Given the description of an element on the screen output the (x, y) to click on. 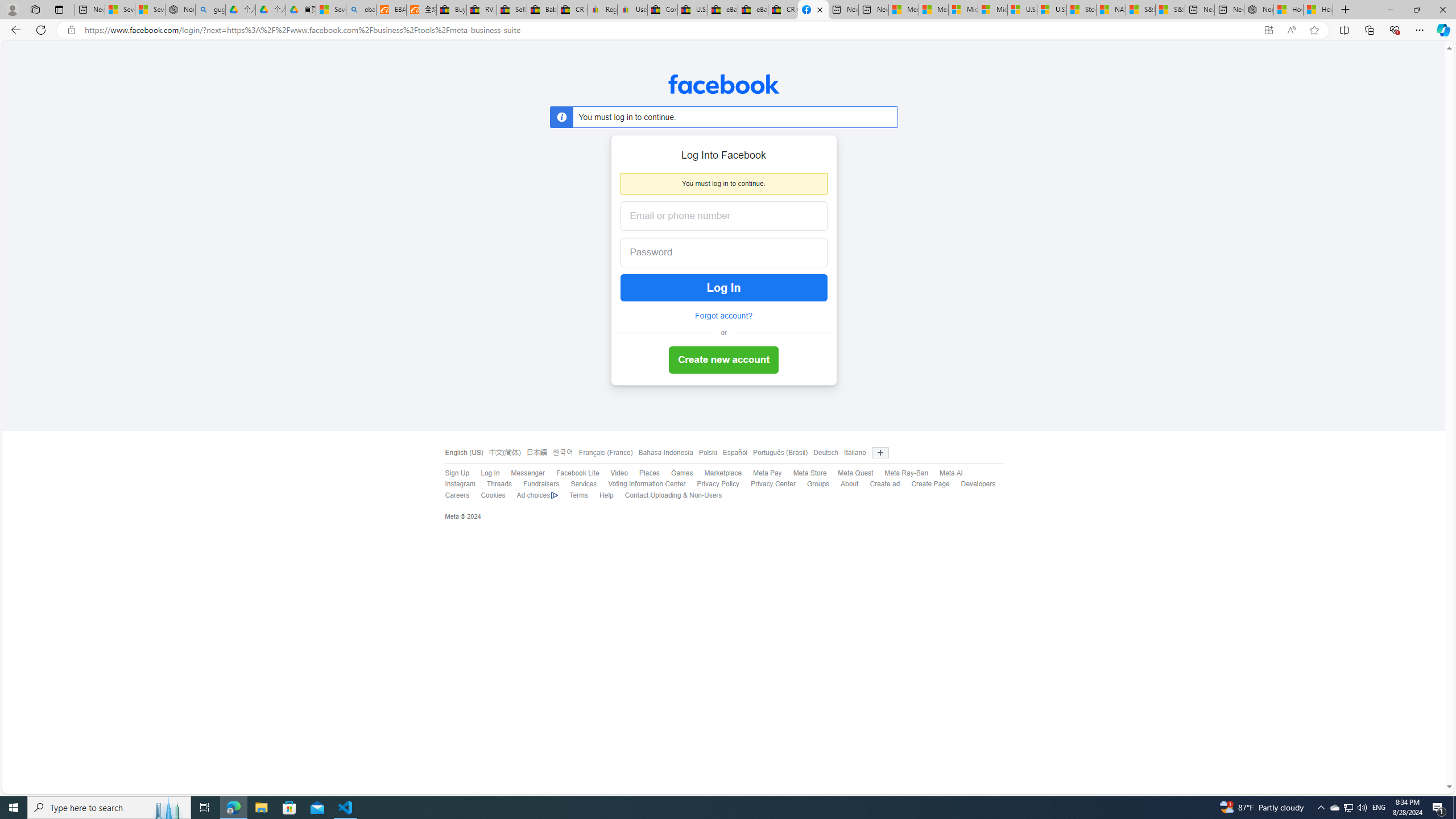
Messenger (521, 473)
Voting Information Center (646, 483)
How to Use a Monitor With Your Closed Laptop (1318, 9)
Forgot account? (723, 316)
Contact Uploading & Non-Users (667, 495)
Create ad (884, 483)
Create ad (878, 484)
Games (682, 473)
Consumer Health Data Privacy Policy - eBay Inc. (662, 9)
Voting Information Center (640, 484)
